Given the description of an element on the screen output the (x, y) to click on. 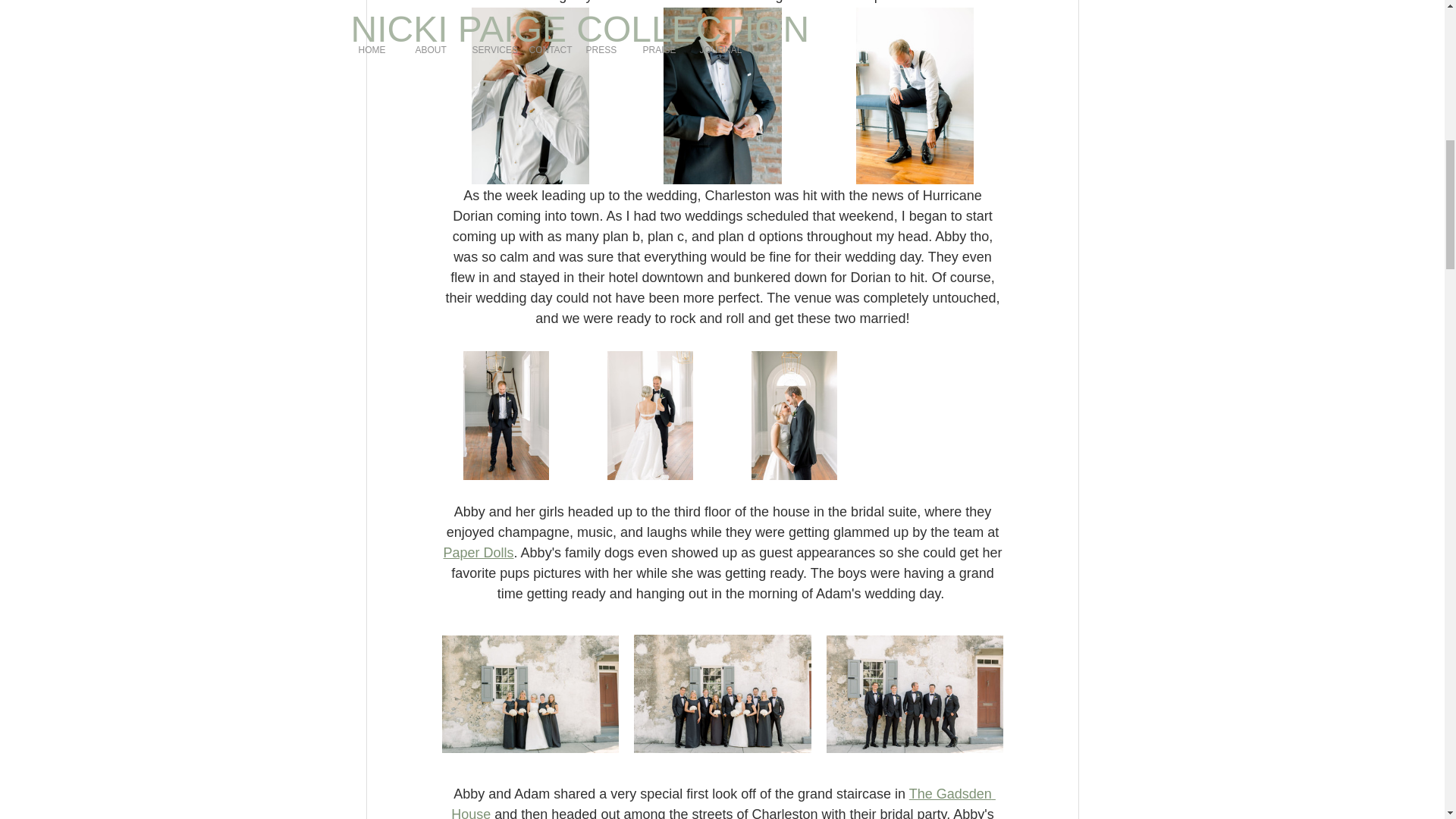
Paper Dolls (477, 552)
The Gadsden House (723, 802)
